Given the description of an element on the screen output the (x, y) to click on. 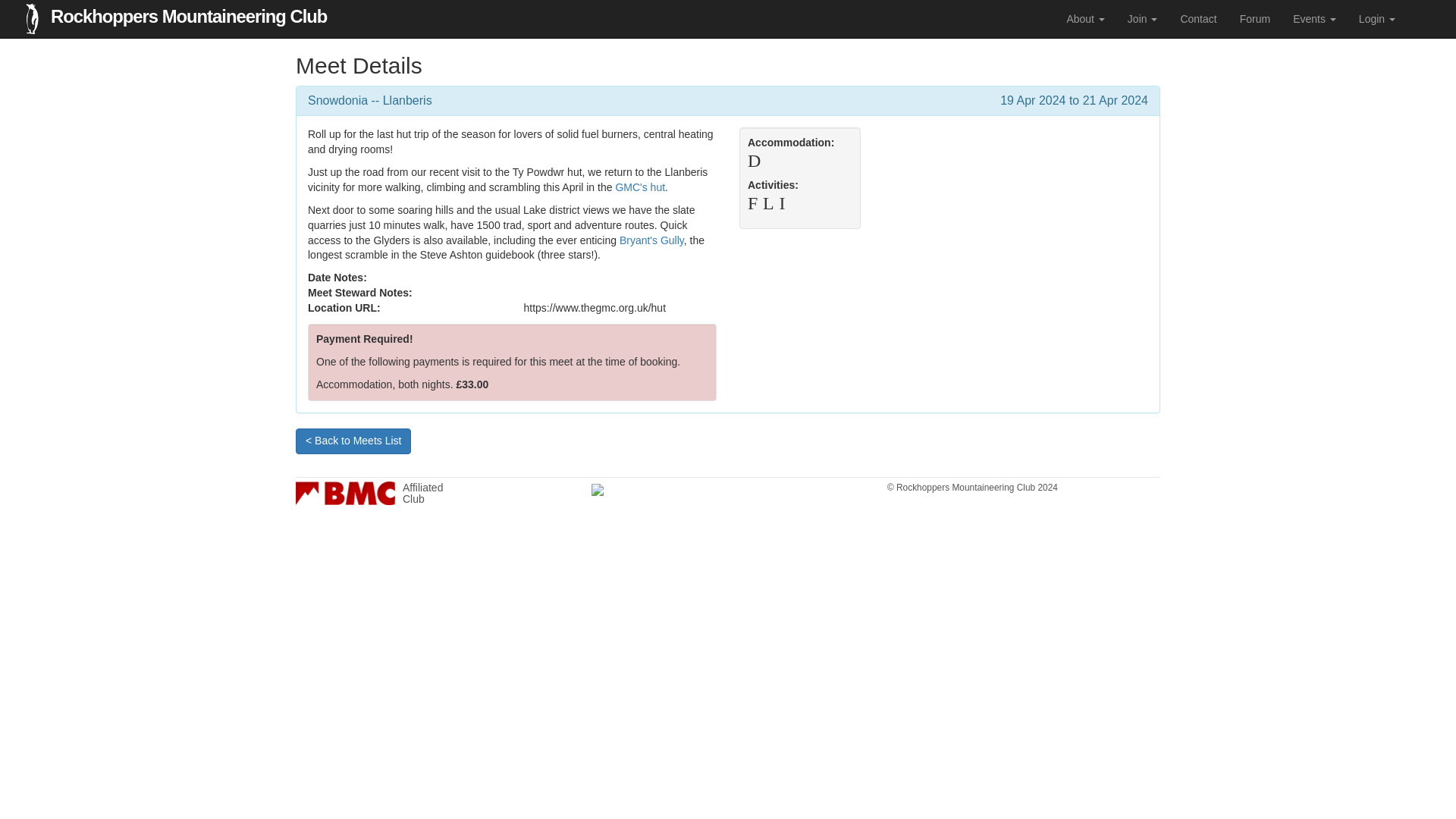
GMC's hut (639, 186)
Login (432, 493)
About (1377, 18)
Forum (1084, 18)
Events (1254, 18)
Contact (1314, 18)
Rockhoppers Mountaineering Club (1198, 18)
Join (188, 12)
Bryant's Gully (1142, 18)
